Given the description of an element on the screen output the (x, y) to click on. 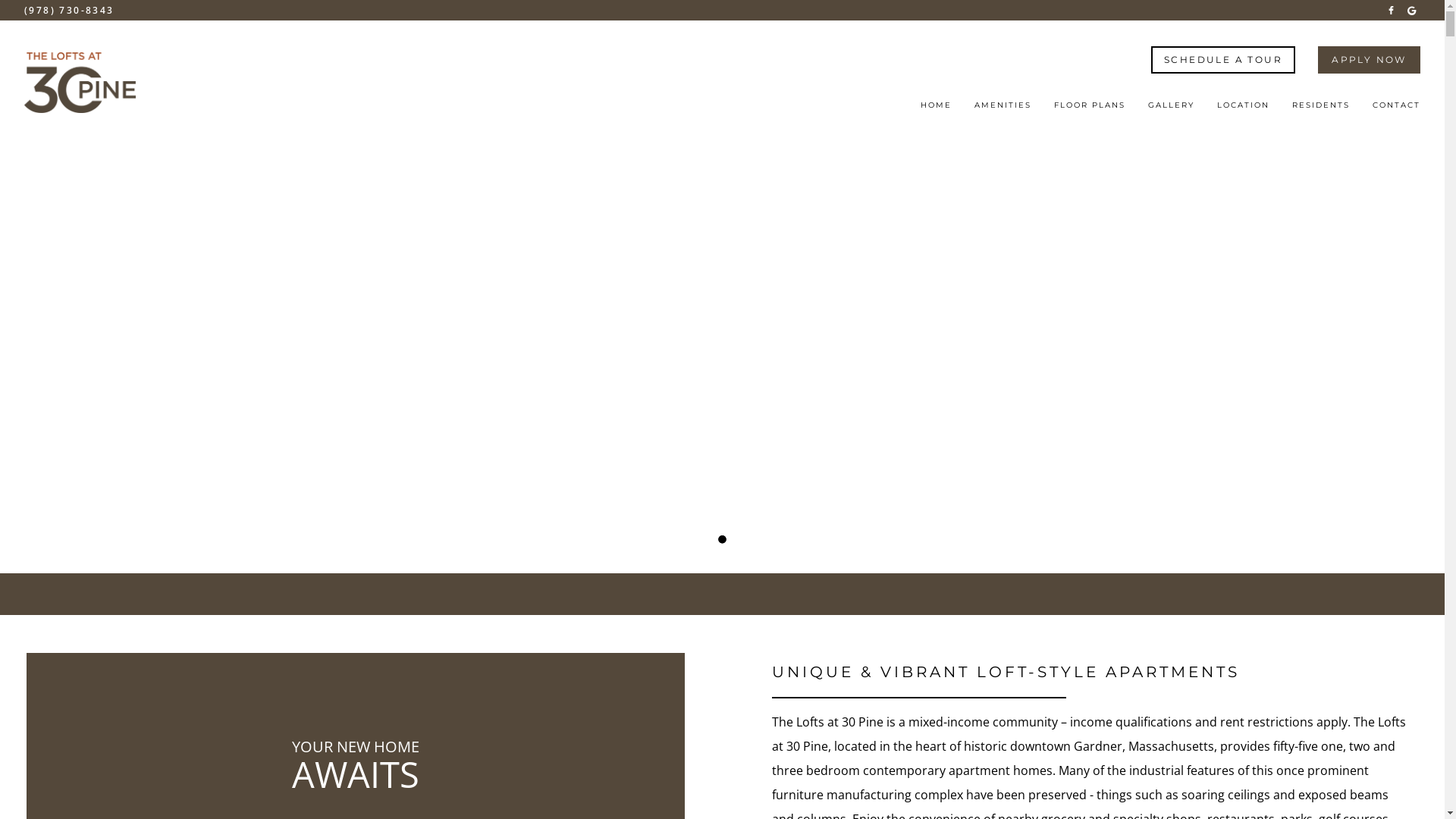
HOME Element type: text (935, 109)
GALLERY Element type: text (1171, 109)
RESIDENTS Element type: text (1320, 109)
AMENITIES Element type: text (1002, 109)
FLOOR PLANS Element type: text (1089, 109)
Home Element type: hover (79, 82)
LOCATION Element type: text (1243, 109)
CONTACT Element type: text (1396, 109)
The Lofts at 30 Pine Element type: hover (1390, 9)
APPLY NOW Element type: text (1368, 58)
(978) 730-8343 Element type: text (69, 9)
SCHEDULE A TOUR Element type: text (1223, 58)
